Given the description of an element on the screen output the (x, y) to click on. 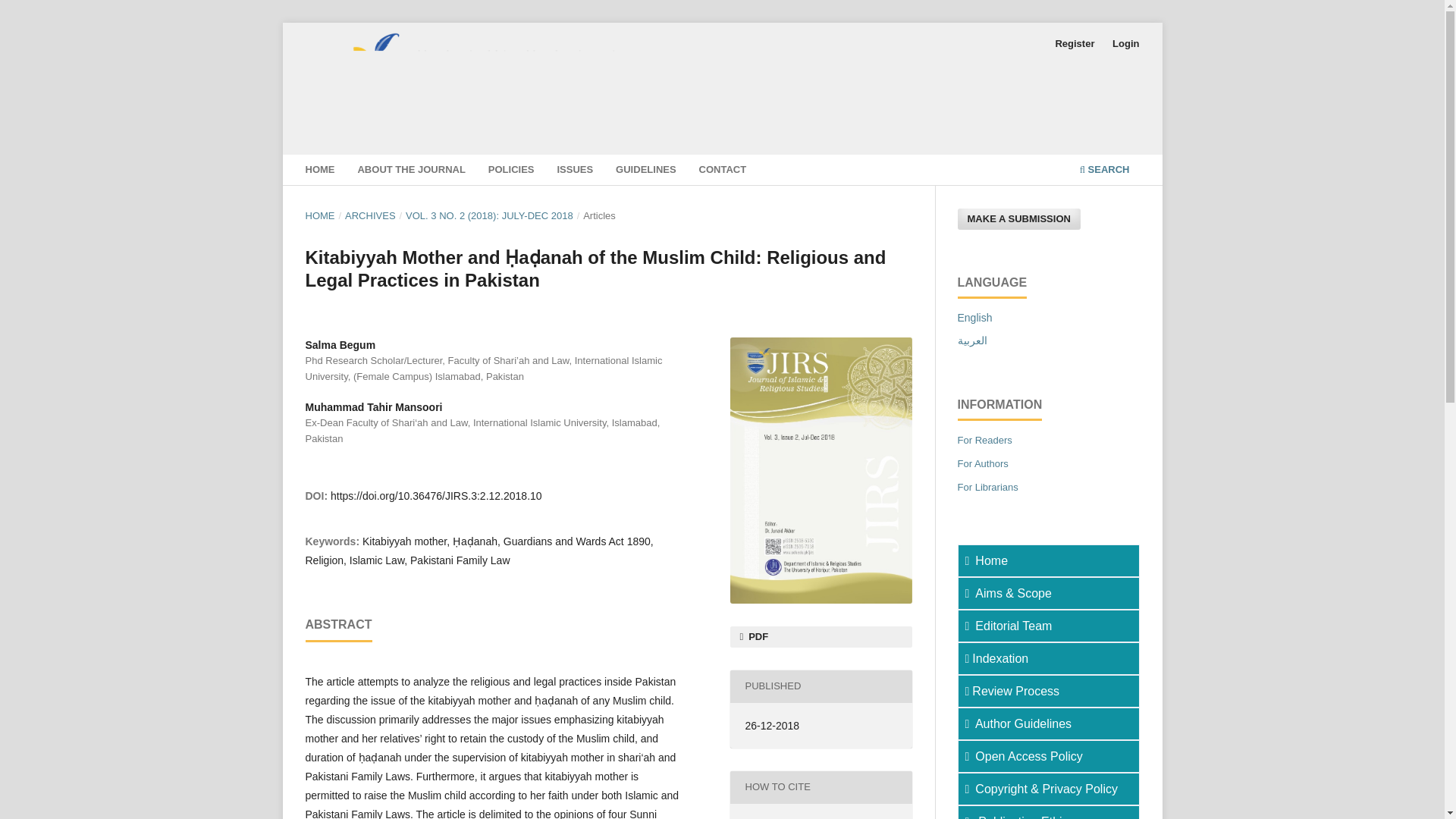
HOME (319, 215)
ISSUES (574, 171)
GUIDELINES (646, 171)
CONTACT (722, 171)
Login (1126, 43)
Register (1074, 43)
POLICIES (510, 171)
SEARCH (1104, 171)
PDF (820, 636)
ARCHIVES (370, 215)
